Given the description of an element on the screen output the (x, y) to click on. 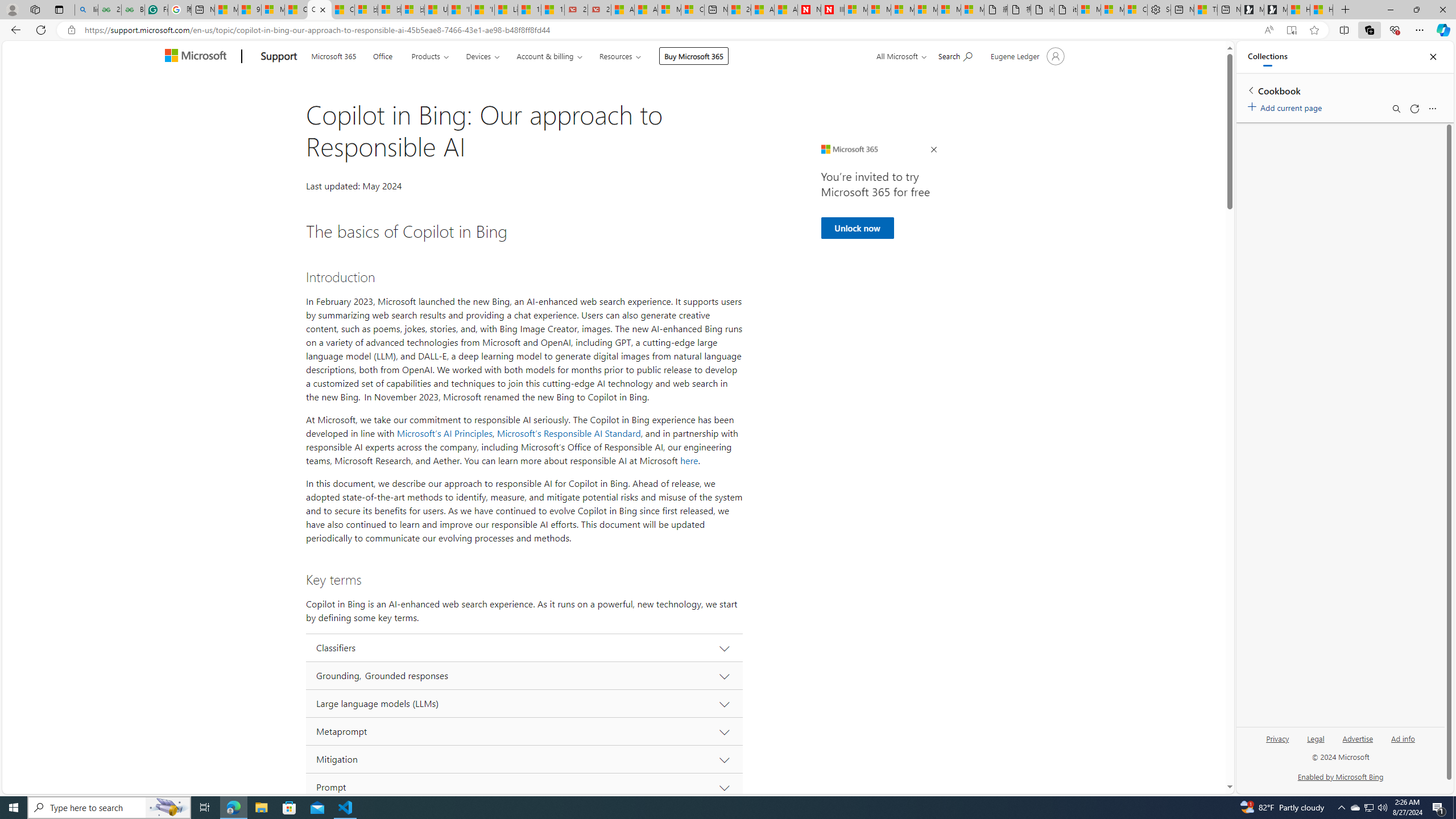
Microsoft (197, 56)
Search for help (954, 54)
21 Movies That Outdid the Books They Were Based On (598, 9)
